Given the description of an element on the screen output the (x, y) to click on. 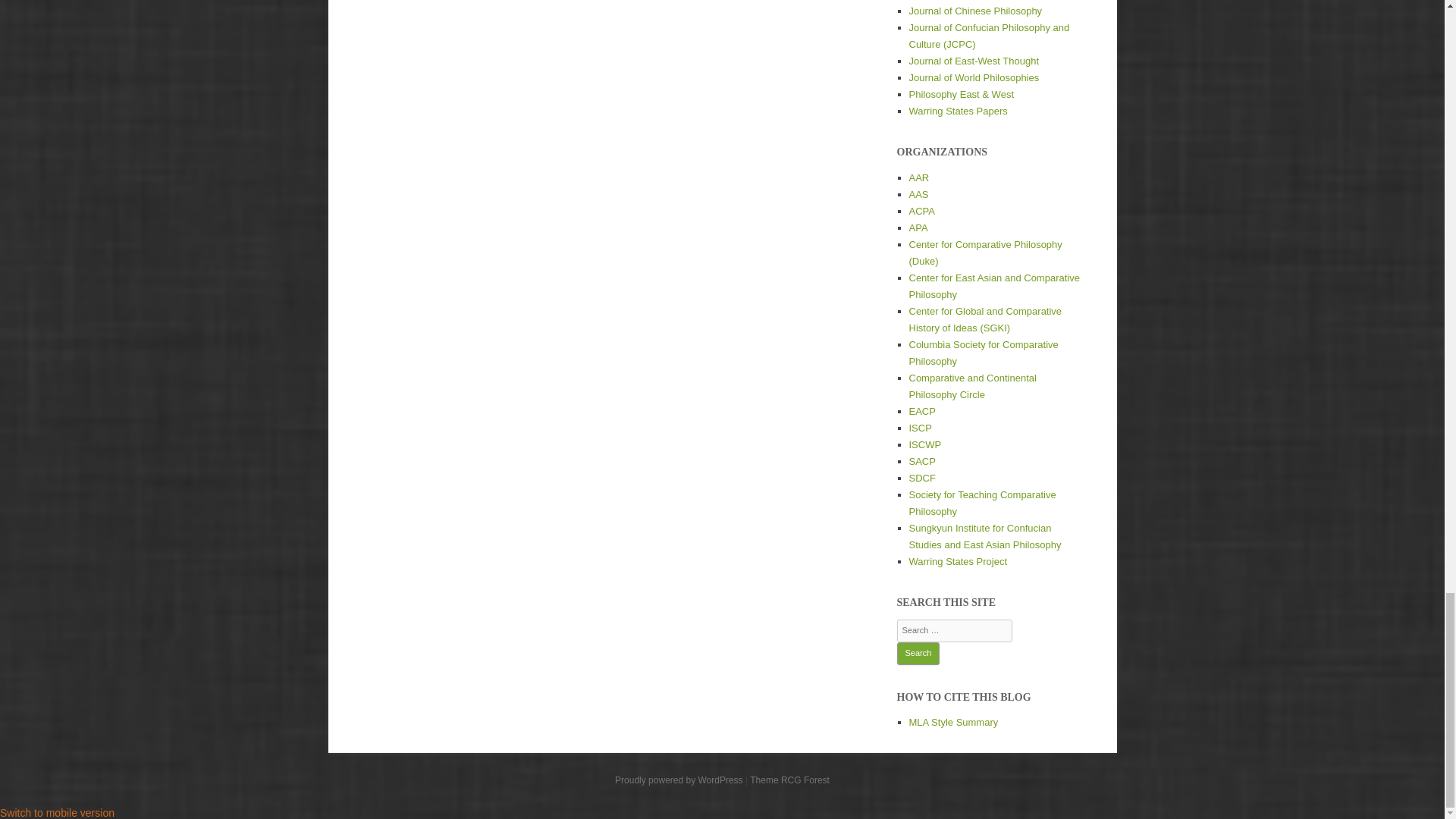
Sinological Development Charitable Foundation (921, 478)
European Association for Chinese Philosophy (921, 410)
Search (917, 653)
American Academy of Religion (918, 177)
Search (917, 653)
Semantic Personal Publishing Platform (678, 779)
